Given the description of an element on the screen output the (x, y) to click on. 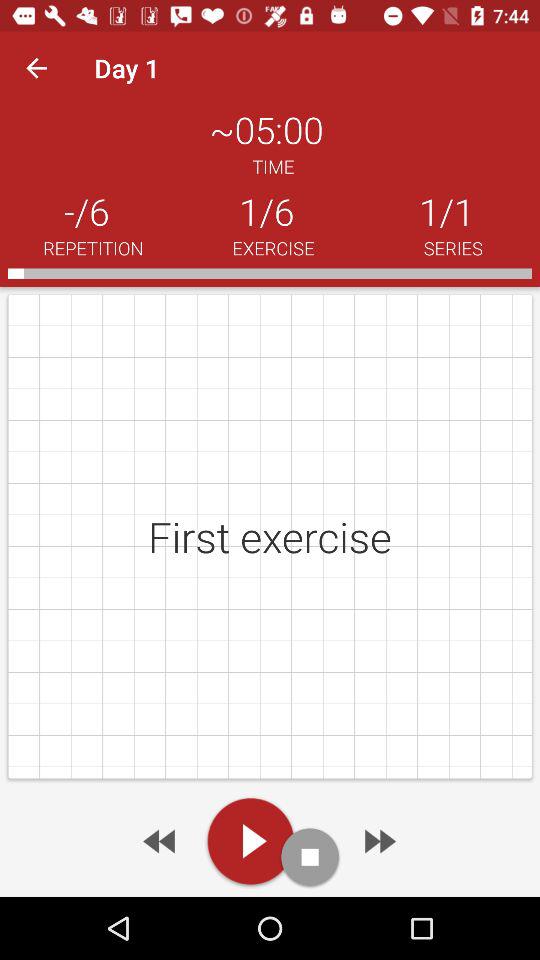
go to previous (161, 841)
